Given the description of an element on the screen output the (x, y) to click on. 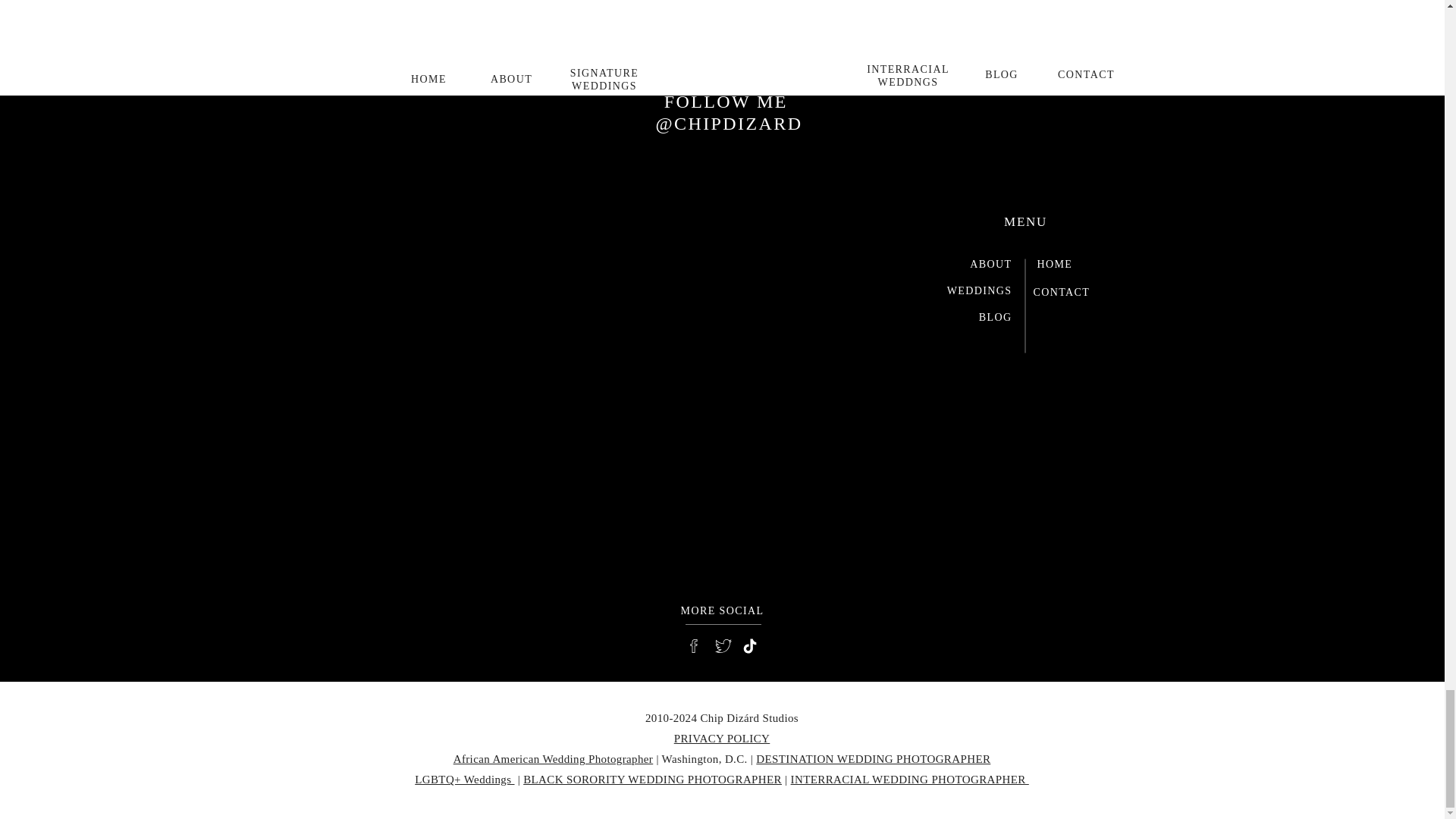
DESTINATION WEDDING PHOTOGRAPHER (872, 758)
CONTACT (1069, 294)
ABOUT (974, 266)
Post Comment (722, 83)
BLACK SORORITY WEDDING PHOTOGRAPHER (651, 779)
INSTAGRAM (726, 70)
INTERRACIAL WEDDING PHOTOGRAPHER  (909, 779)
BLOG (974, 319)
HOME (1074, 266)
PRIVACY POLICY (722, 738)
